Given the description of an element on the screen output the (x, y) to click on. 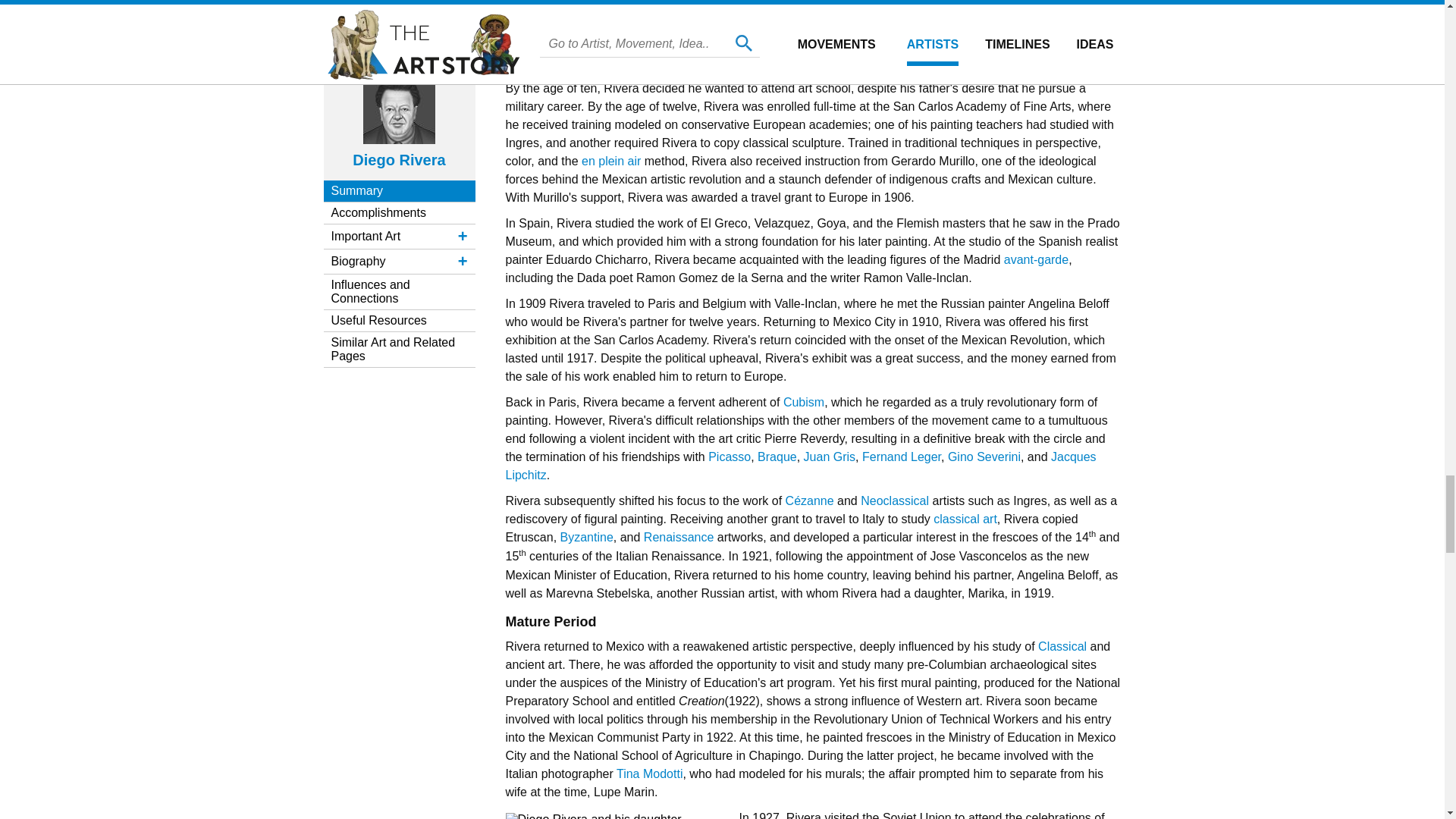
avant-garde (1036, 259)
Jacques Lipchitz (800, 465)
Juan Gris (829, 456)
Picasso (729, 456)
Cubism (803, 401)
Gino Severini (983, 456)
en plein air (610, 160)
Fernand Leger (900, 456)
Braque (776, 456)
